Given the description of an element on the screen output the (x, y) to click on. 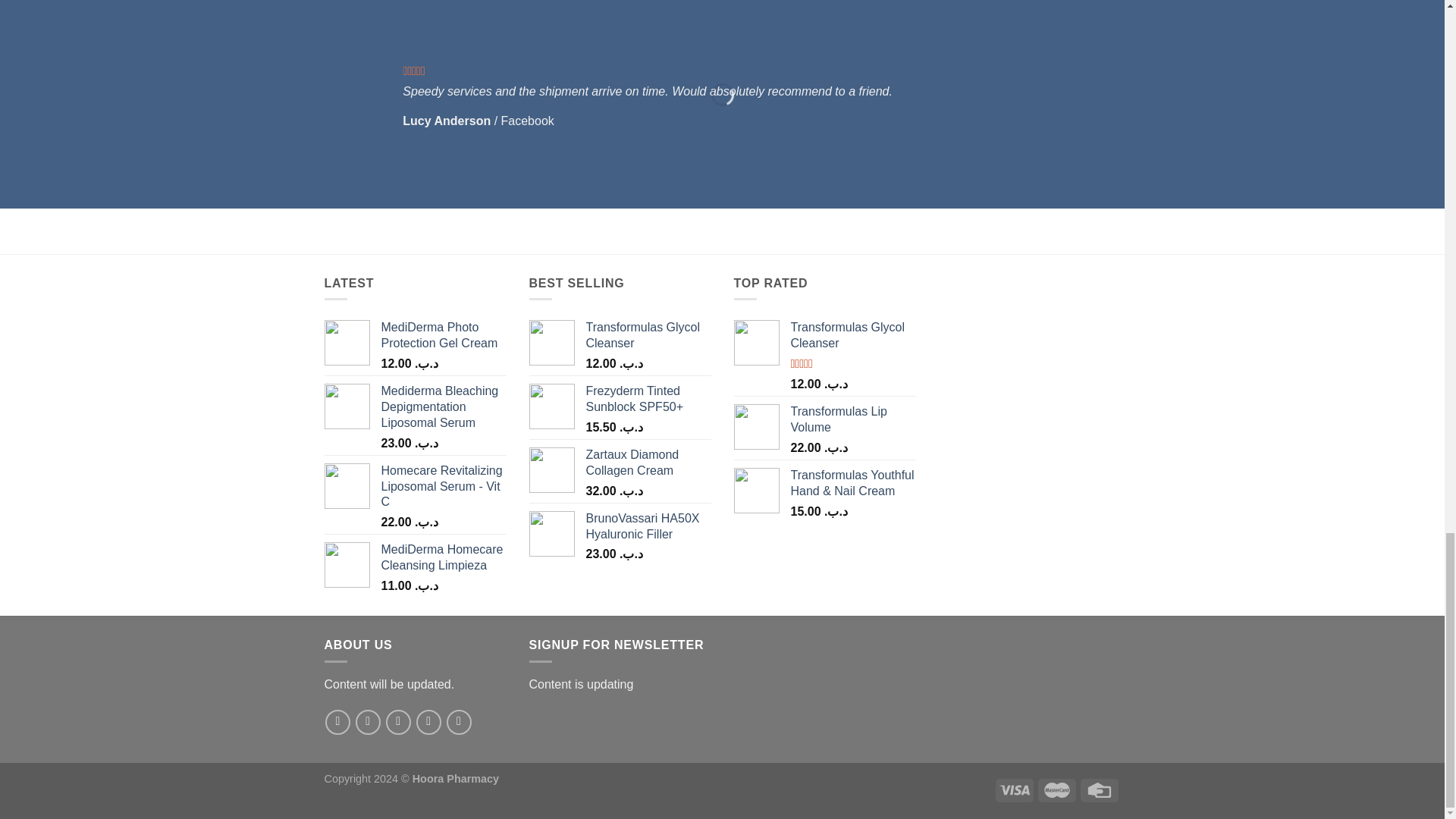
Follow on Twitter (397, 722)
Follow on Pinterest (458, 722)
Follow on Facebook (337, 722)
Send us an email (428, 722)
Follow on Instagram (367, 722)
